Given the description of an element on the screen output the (x, y) to click on. 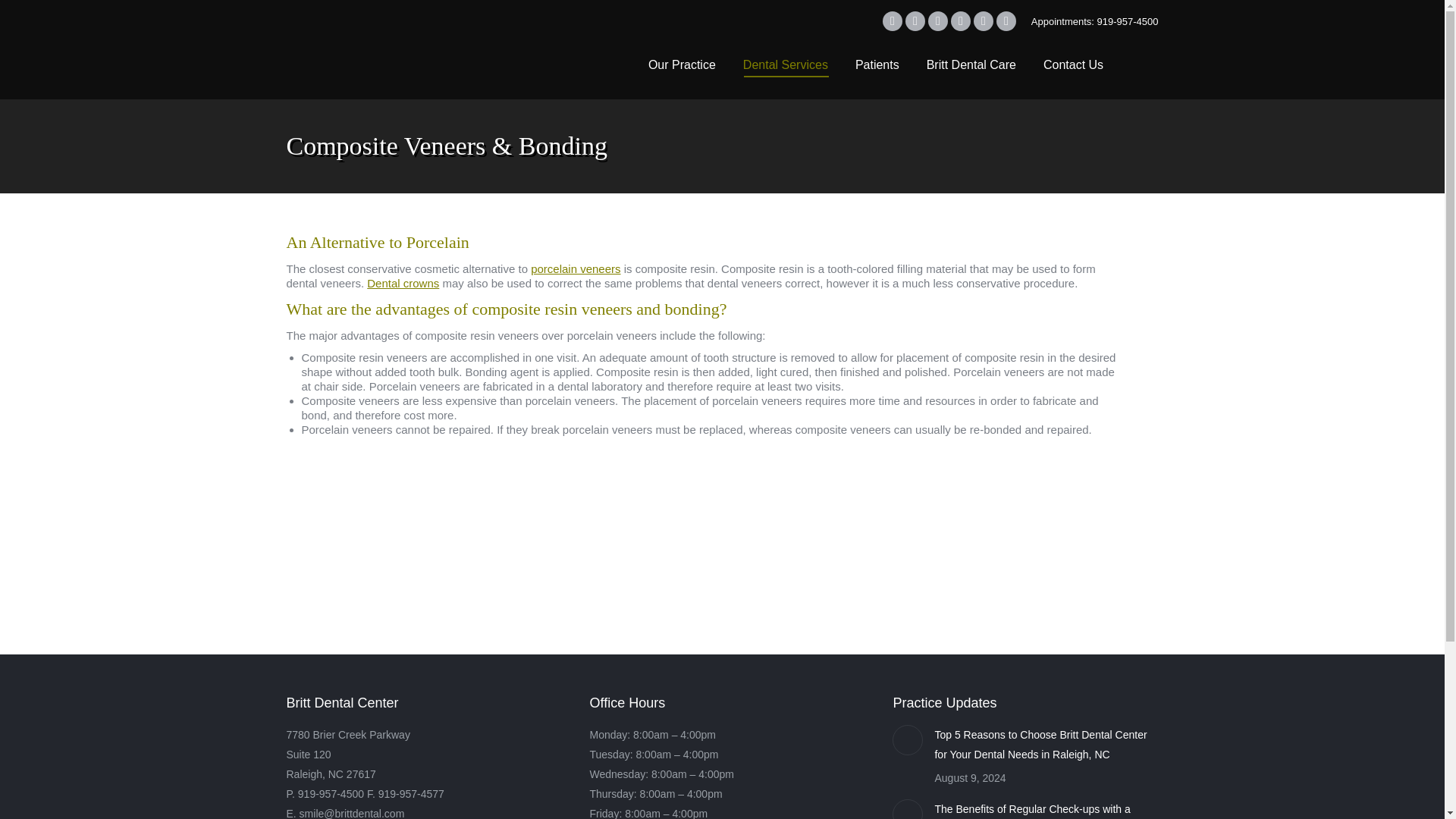
YouTube page opens in new window (937, 21)
YouTube page opens in new window (937, 21)
Yelp page opens in new window (1005, 21)
Linkedin page opens in new window (960, 21)
X page opens in new window (914, 21)
Mail page opens in new window (983, 21)
Facebook page opens in new window (892, 21)
X page opens in new window (914, 21)
Facebook page opens in new window (892, 21)
Our Practice (682, 65)
